Given the description of an element on the screen output the (x, y) to click on. 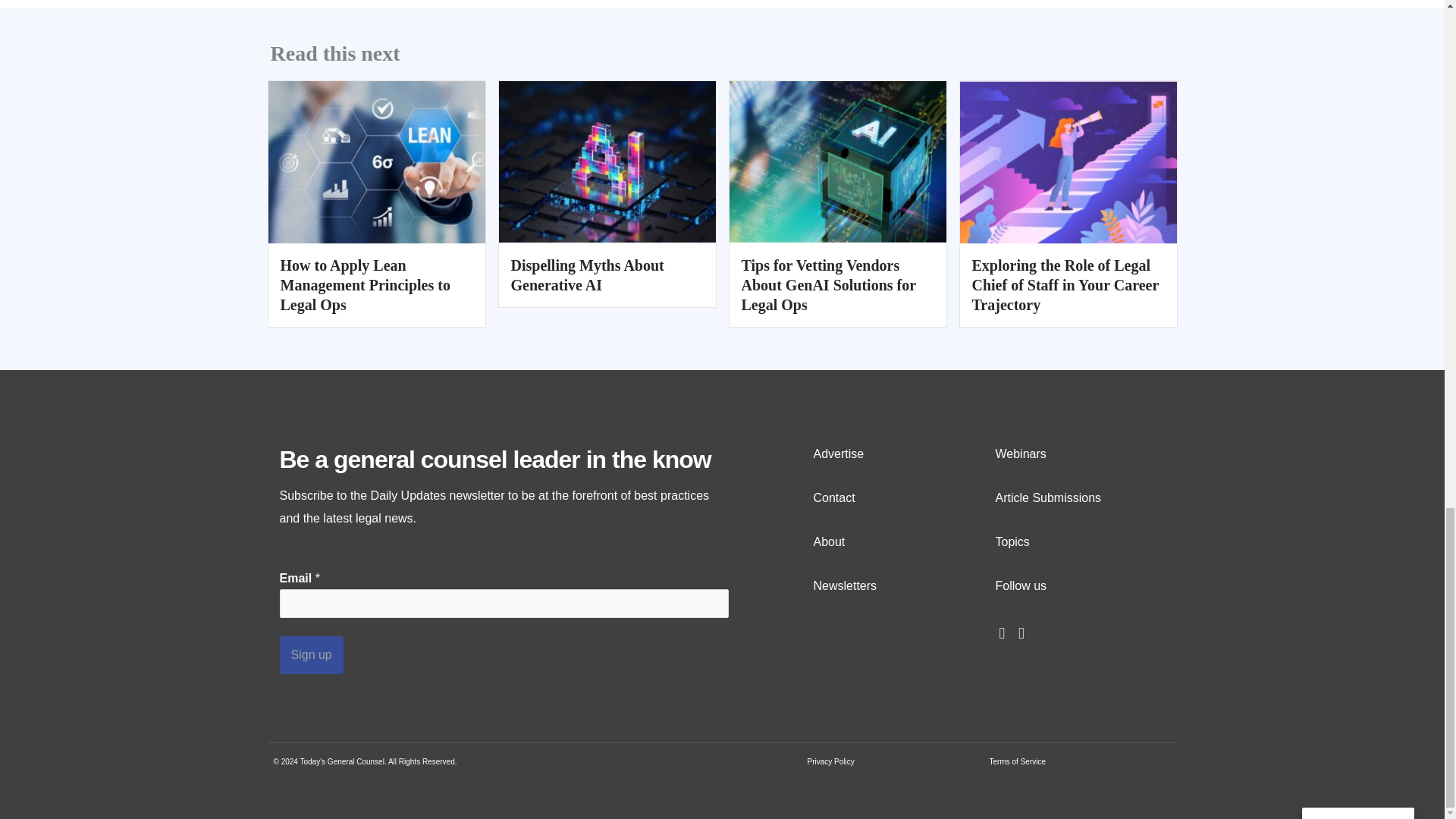
Tips for Vetting Vendors About GenAI Solutions for Legal Ops (828, 284)
Dispelling Myths About Generative AI (587, 275)
Tips for Vetting Vendors About GenAI Solutions for Legal Ops (837, 160)
How to Apply Lean Management Principles to Legal Ops (365, 284)
How to Apply Lean Management Principles to Legal Ops (375, 160)
Dispelling Myths About Generative AI (607, 160)
